Given the description of an element on the screen output the (x, y) to click on. 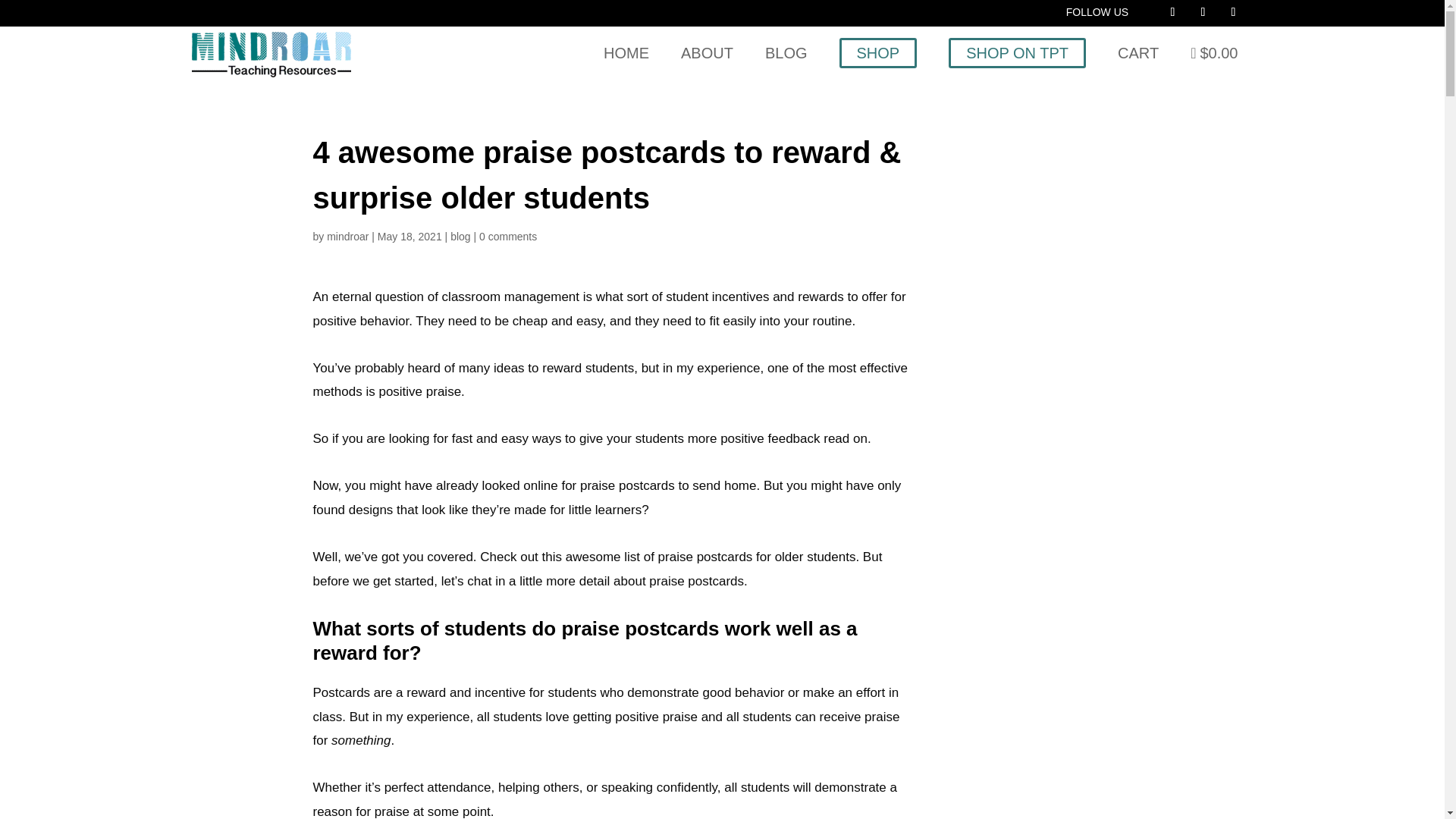
Follow on Instagram (1232, 12)
HOME (626, 52)
BLOG (786, 52)
Start shopping (1214, 52)
Follow on Pinterest (1202, 12)
0 comments (508, 236)
SHOP ON TPT (1017, 52)
Website-header (270, 53)
Follow on Facebook (1172, 12)
CART (1138, 52)
mindroar (347, 236)
ABOUT (707, 52)
Posts by mindroar (347, 236)
blog (459, 236)
SHOP (877, 52)
